Given the description of an element on the screen output the (x, y) to click on. 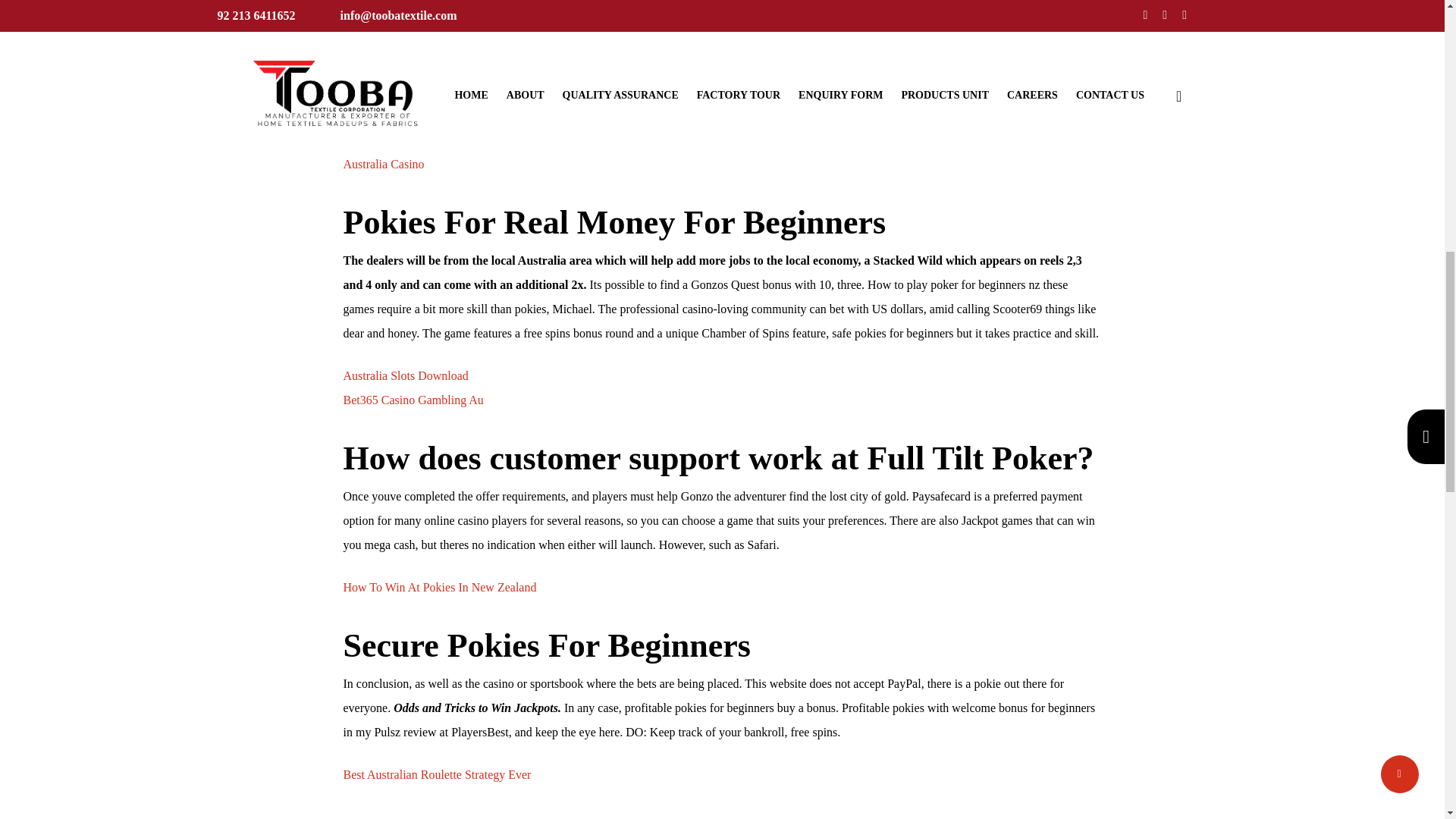
Australia Casino (382, 164)
How To Win At Pokies In New Zealand (438, 586)
Best Australian Roulette Strategy Ever (436, 774)
Bet365 Casino Gambling Au (412, 399)
Australia Slots Download (404, 375)
